Given the description of an element on the screen output the (x, y) to click on. 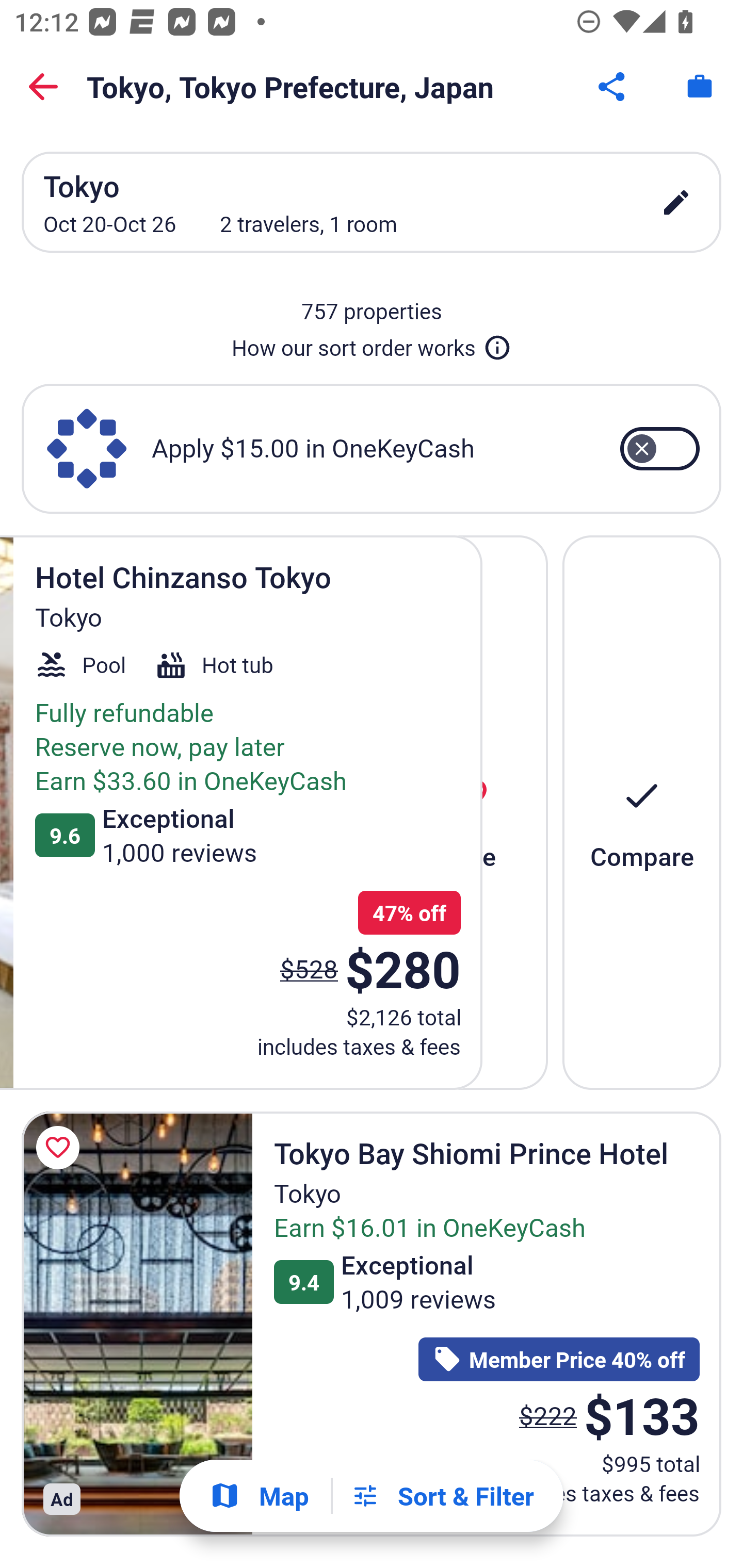
Back (43, 86)
Share Button (612, 86)
Trips. Button (699, 86)
Tokyo Oct 20-Oct 26 2 travelers, 1 room edit (371, 202)
How our sort order works (371, 344)
Compare (641, 811)
$528 The price was $528 (308, 968)
Save Tokyo Bay Shiomi Prince Hotel to a trip (61, 1147)
Tokyo Bay Shiomi Prince Hotel (136, 1323)
$222 The price was $222 (547, 1415)
Filters Sort & Filter Filters Button (442, 1495)
Show map Map Show map Button (258, 1495)
